Given the description of an element on the screen output the (x, y) to click on. 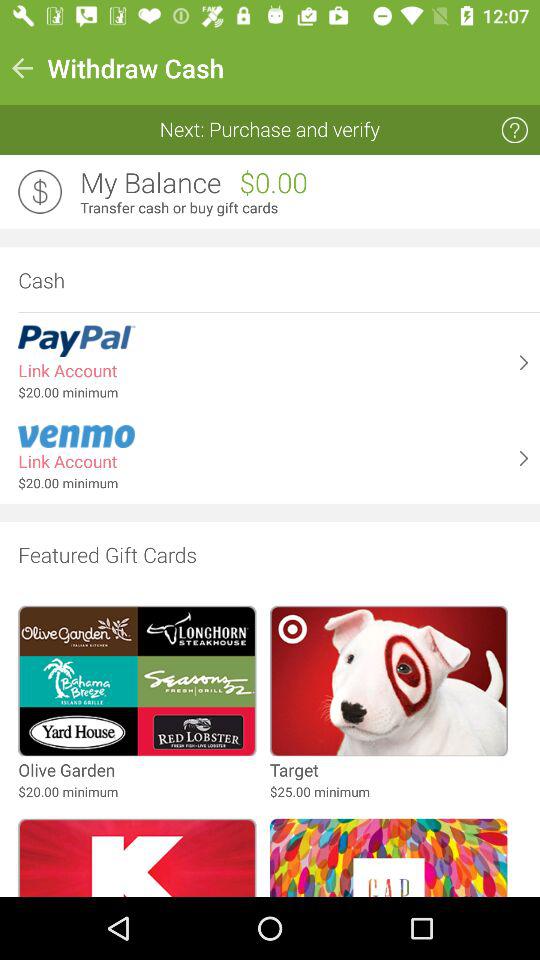
turn off the my balance (150, 183)
